Given the description of an element on the screen output the (x, y) to click on. 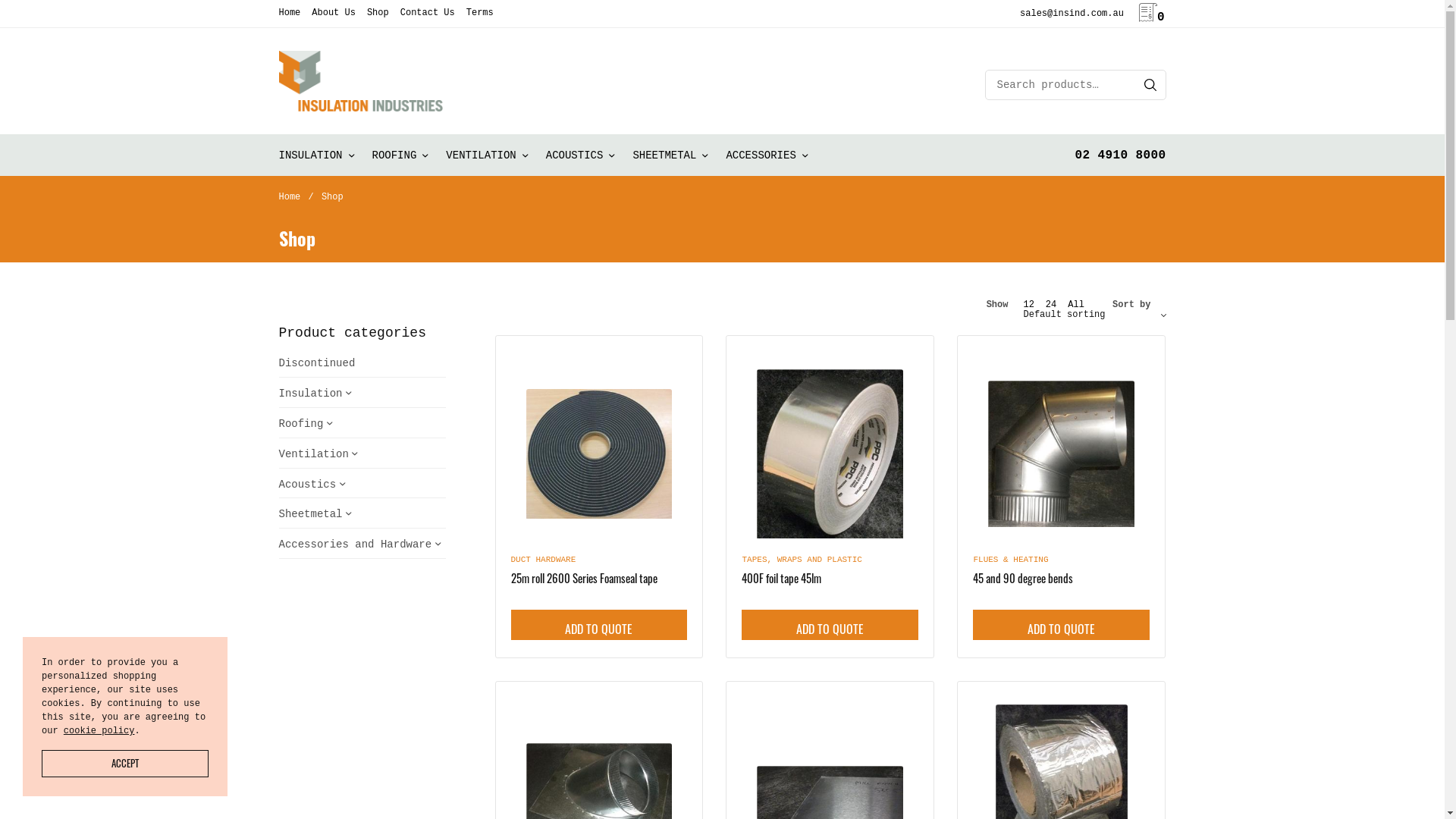
Discontinued Element type: text (317, 363)
DUCT HARDWARE Element type: text (543, 559)
ACCESSORIES Element type: text (765, 154)
Search Element type: text (1149, 84)
Ventilation Element type: text (313, 454)
VENTILATION Element type: text (486, 154)
FLUES & HEATING Element type: text (1010, 559)
45 and 90 degree bends Element type: hover (1060, 445)
Home Element type: text (290, 12)
Terms Element type: text (479, 12)
Acoustics Element type: text (307, 484)
25m roll 2600 Series Foamseal tape Element type: hover (599, 445)
SHEETMETAL Element type: text (669, 154)
ROOFING Element type: text (400, 154)
400F foil tape 45lm Element type: hover (829, 445)
02 4910 8000 Element type: text (1119, 154)
cookie policy Element type: text (98, 730)
ACCEPT Element type: text (124, 763)
400F foil tape 45lm Element type: text (781, 577)
sales@insind.com.au Element type: text (1071, 13)
12 Element type: text (1027, 304)
ADD TO QUOTE Element type: text (599, 624)
24 Element type: text (1050, 304)
Roofing Element type: text (301, 423)
ADD TO QUOTE Element type: text (829, 624)
INSULATION Element type: text (316, 154)
All Element type: text (1075, 304)
TAPES, WRAPS AND PLASTIC Element type: text (801, 559)
25m roll 2600 Series Foamseal tape Element type: text (584, 577)
Shop Element type: text (378, 12)
Insulation Element type: text (310, 393)
Accessories and Hardware Element type: text (355, 544)
0 Element type: text (1151, 17)
Sheetmetal Element type: text (310, 514)
About Us Element type: text (333, 12)
Insulation Industries Element type: hover (360, 80)
ADD TO QUOTE Element type: text (1060, 624)
45 and 90 degree bends Element type: text (1022, 577)
ACOUSTICS Element type: text (580, 154)
Home Element type: text (290, 196)
Contact Us Element type: text (427, 12)
